Given the description of an element on the screen output the (x, y) to click on. 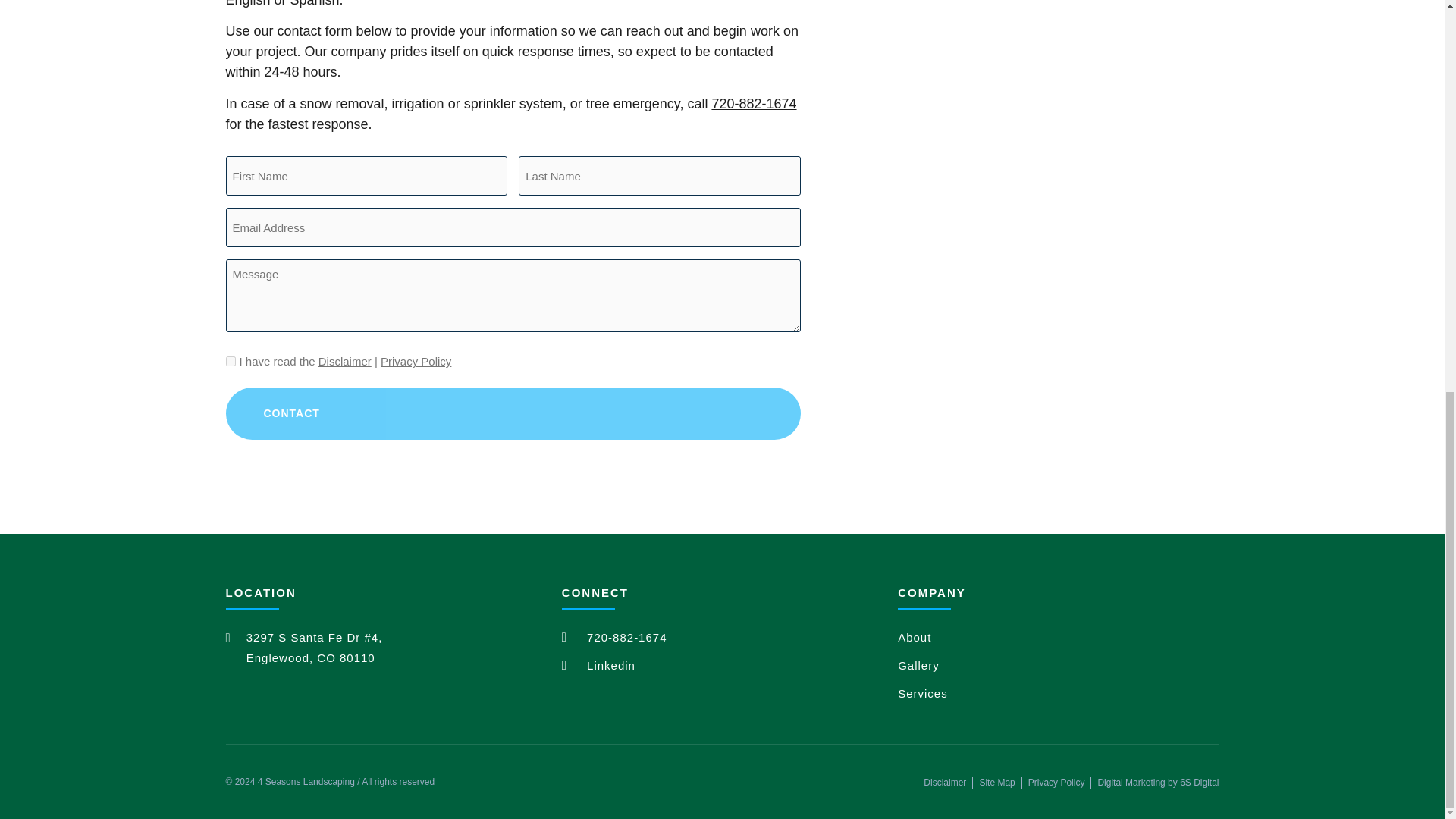
Contact (512, 413)
Linkedin (722, 665)
Contact (512, 413)
Privacy Policy (415, 360)
Disclaimer (944, 782)
720-882-1674 (722, 637)
720-882-1674 (753, 103)
About (1058, 637)
Services (1058, 693)
Gallery (1058, 665)
